Given the description of an element on the screen output the (x, y) to click on. 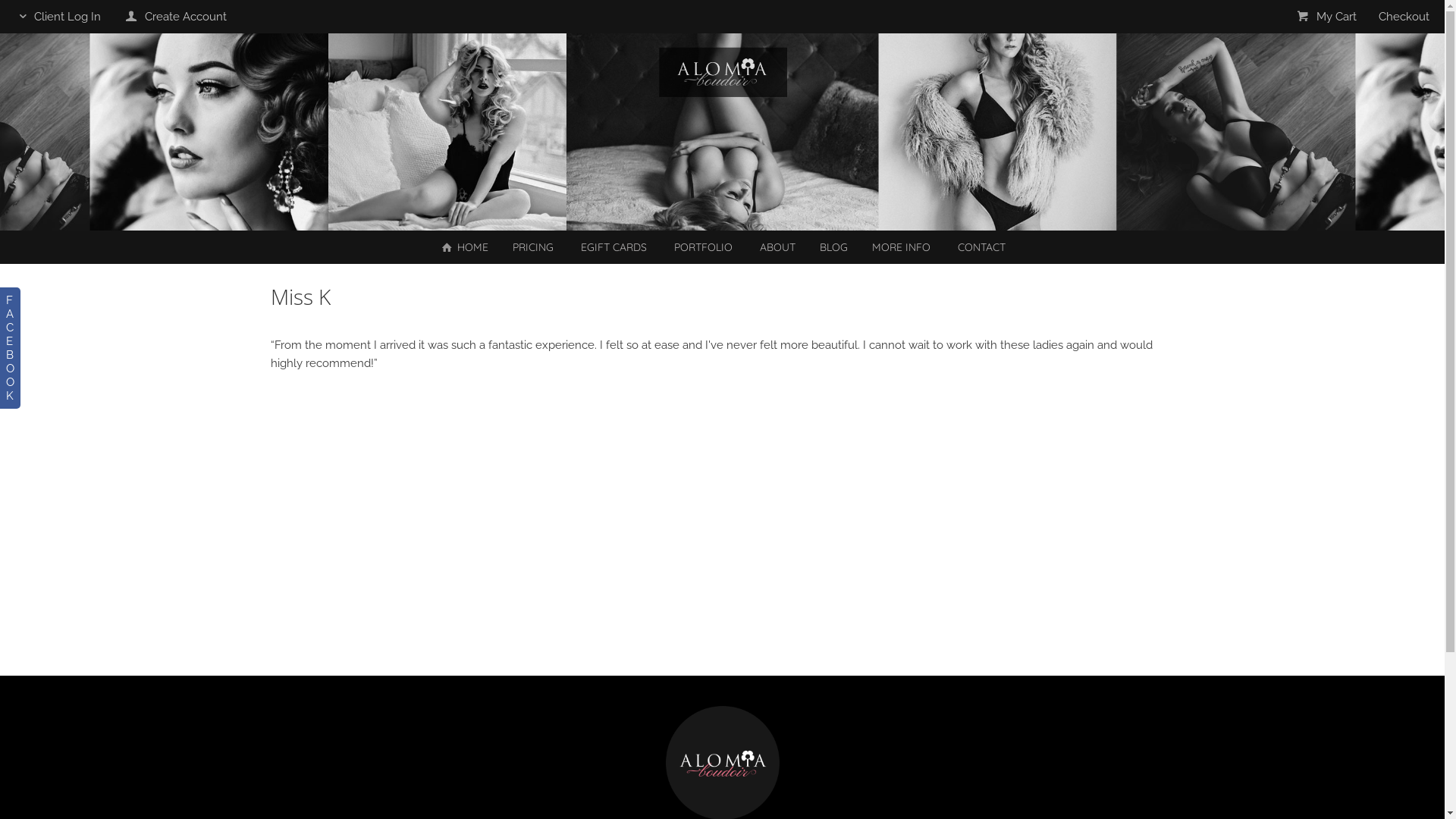
PRICING Element type: text (532, 247)
EGIFT CARDS Element type: text (613, 247)
BLOG Element type: text (833, 247)
 HOME Element type: text (463, 247)
 Client Log In Element type: text (57, 16)
ABOUT Element type: text (777, 247)
CONTACT Element type: text (981, 247)
MORE INFO Element type: text (900, 247)
PORTFOLIO Element type: text (703, 247)
  Create Account Element type: text (174, 16)
  My Cart Element type: text (1326, 16)
Checkout Element type: text (1403, 16)
